Given the description of an element on the screen output the (x, y) to click on. 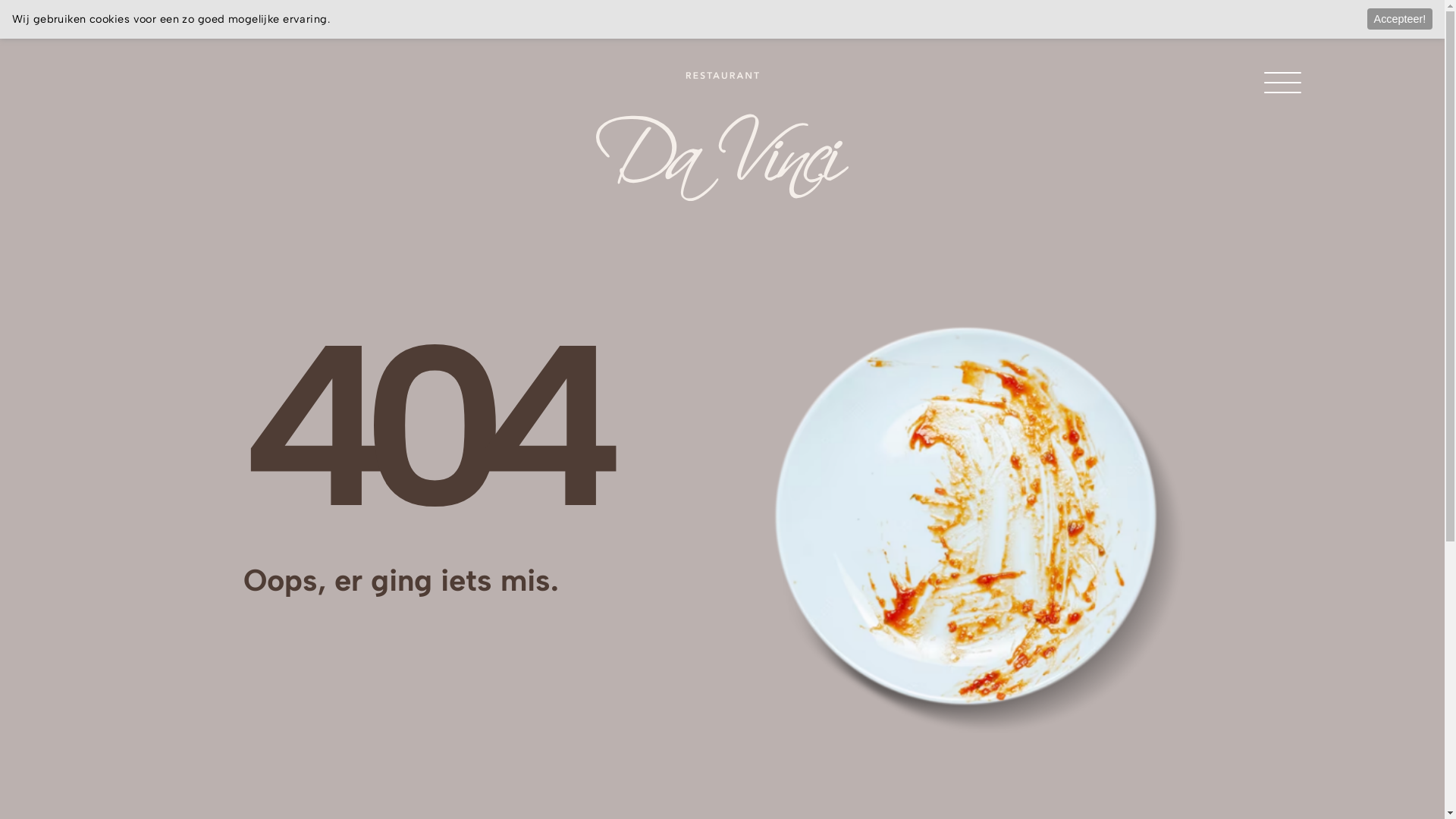
Accepteer! Element type: text (1399, 18)
